Given the description of an element on the screen output the (x, y) to click on. 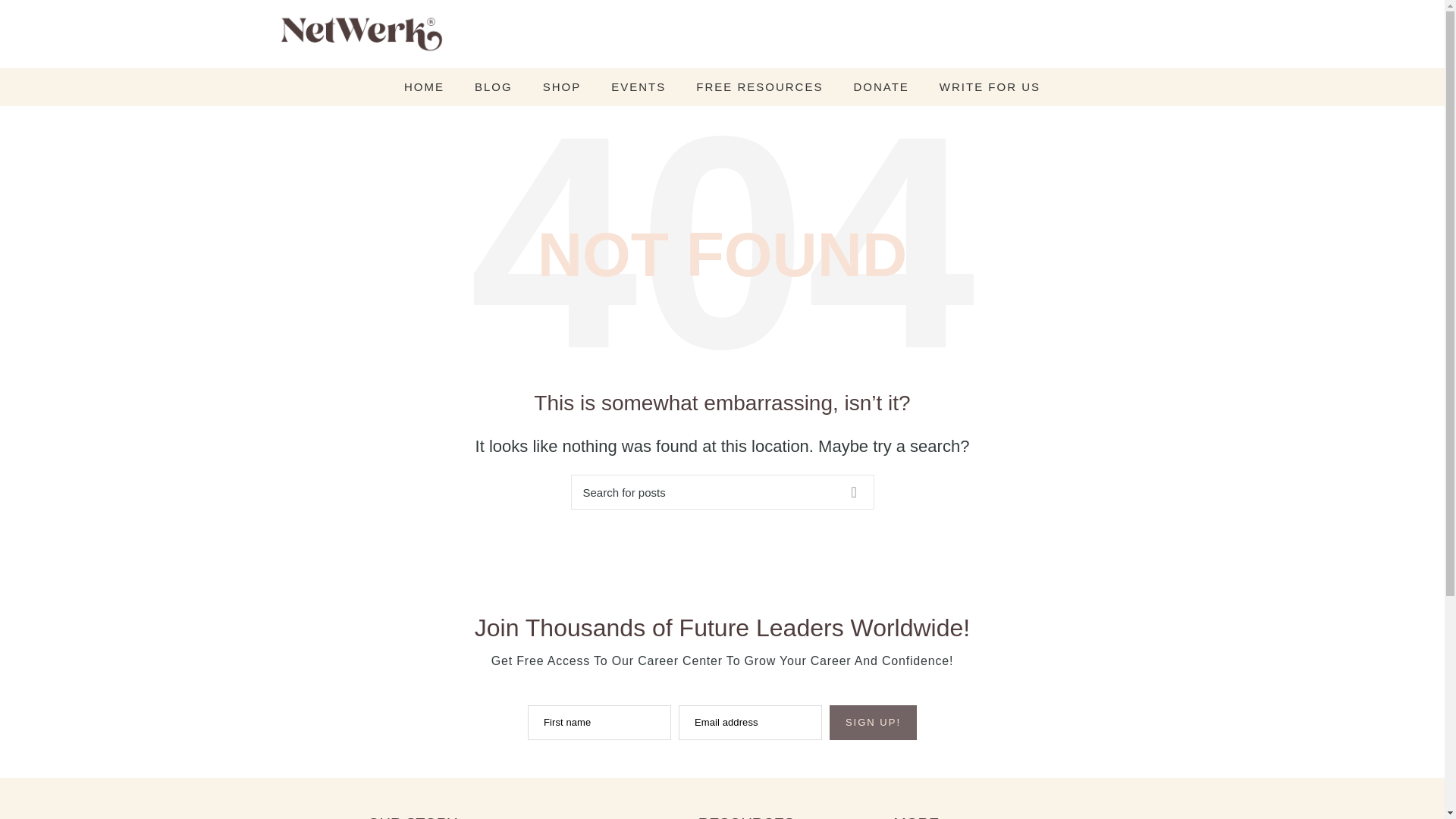
BLOG (493, 87)
SHOP (561, 87)
EVENTS (638, 87)
WRITE FOR US (989, 87)
SEARCH (853, 492)
Search for posts (721, 492)
FREE RESOURCES (759, 87)
DONATE (880, 87)
HOME (424, 87)
SIGN UP! (873, 722)
